Given the description of an element on the screen output the (x, y) to click on. 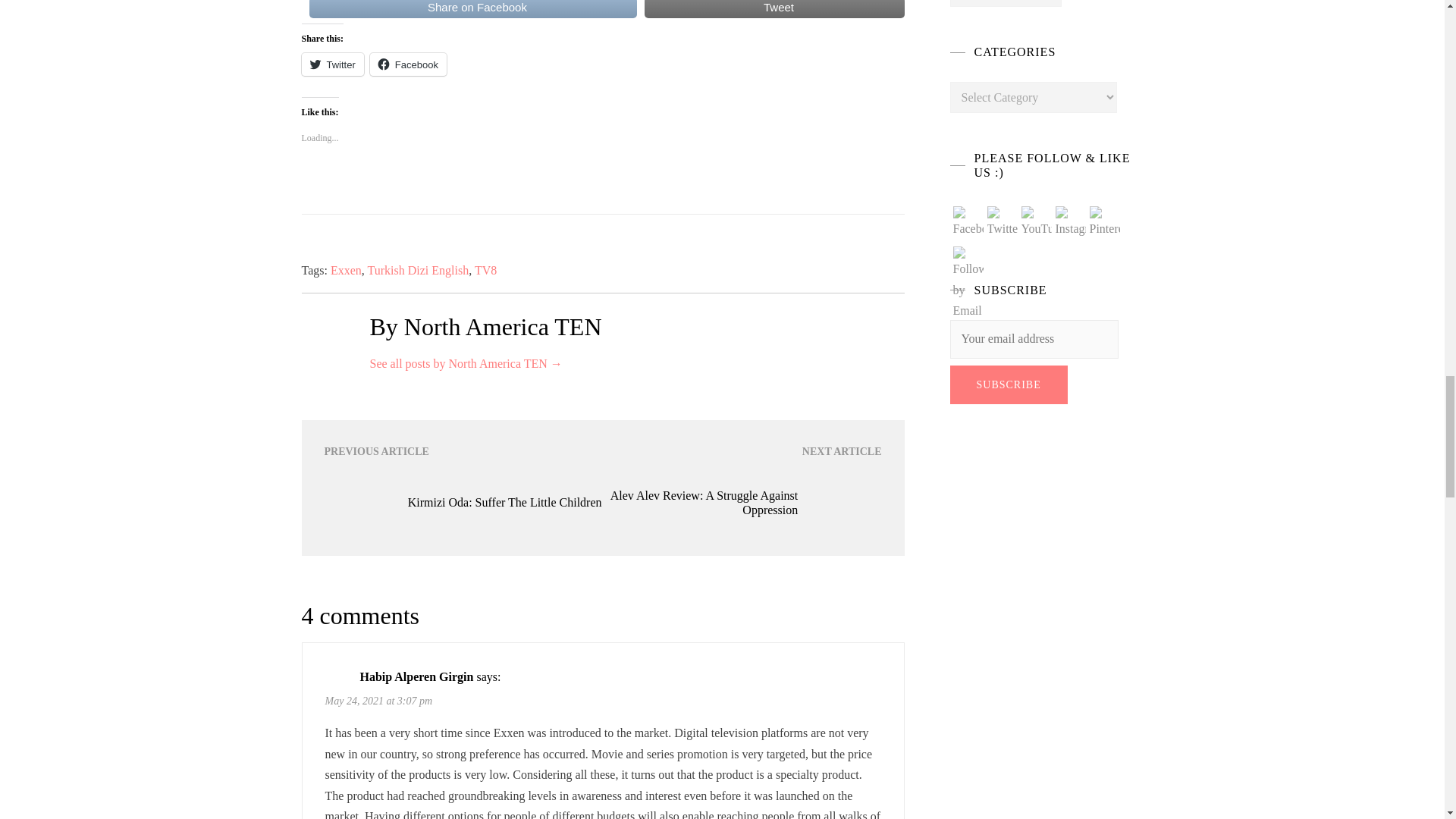
Click to share on Twitter (332, 64)
Click to share on Facebook (407, 64)
Facebook (967, 222)
Subscribe (1008, 384)
Pinterest (1104, 222)
Instagram (1070, 222)
YouTube (1035, 222)
Twitter (1002, 222)
